Given the description of an element on the screen output the (x, y) to click on. 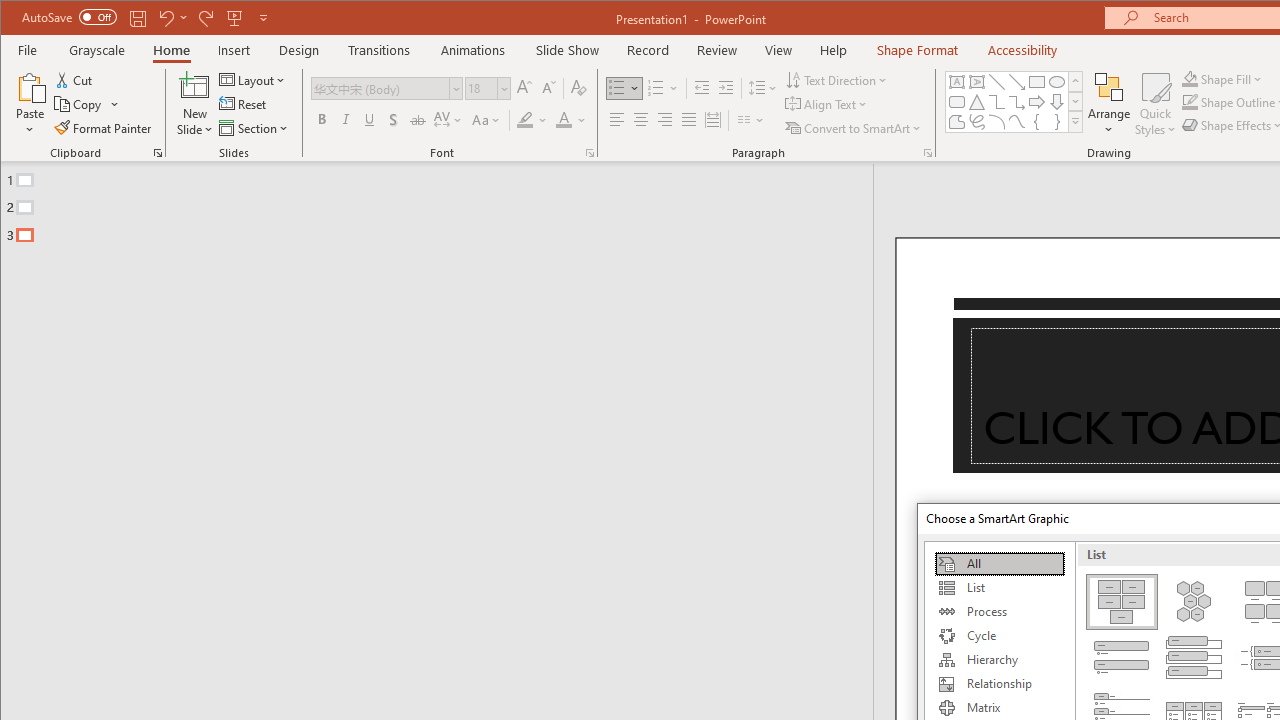
Grayscale (97, 50)
